Given the description of an element on the screen output the (x, y) to click on. 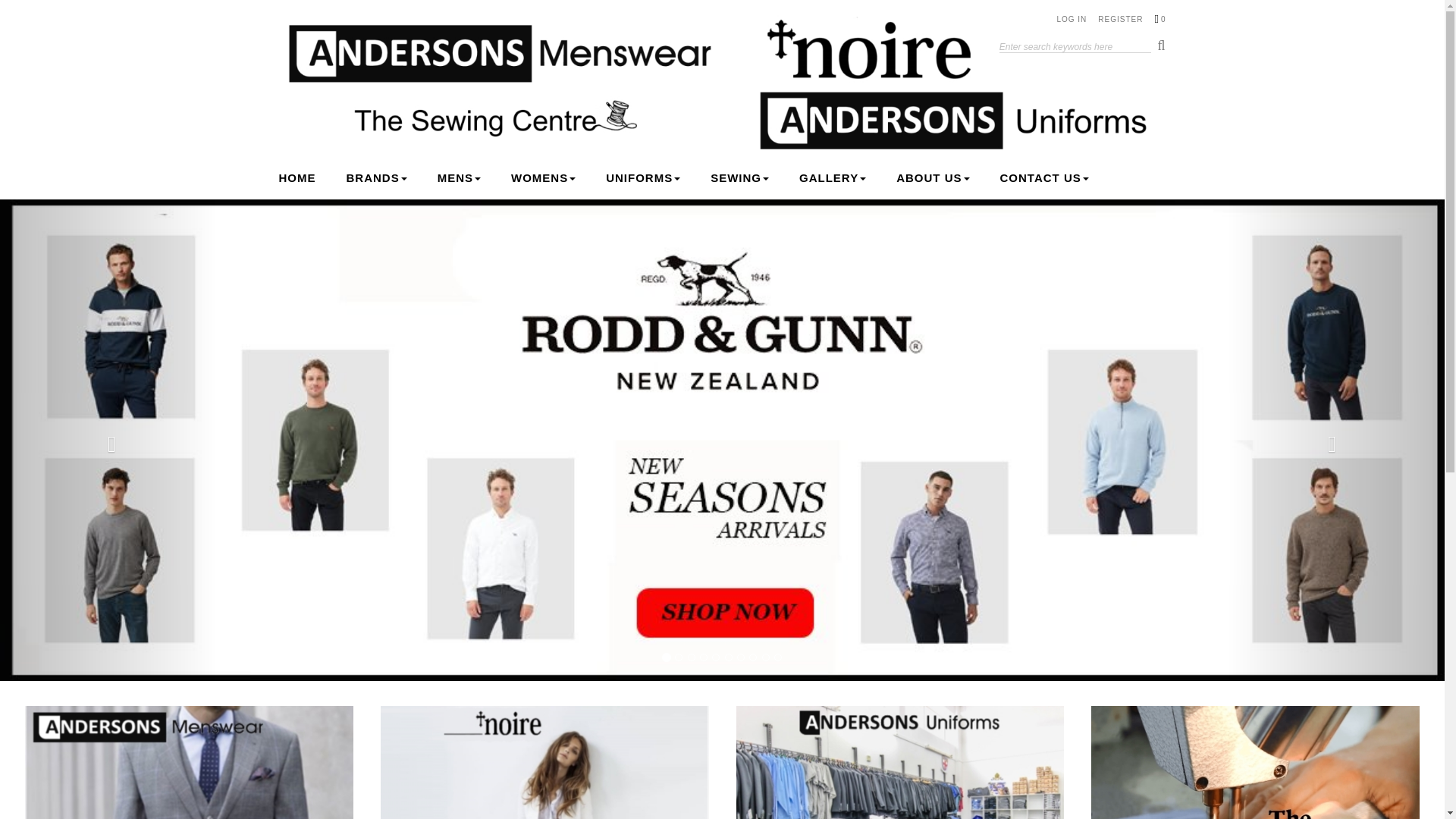
WOMENS (543, 177)
Uniforms (900, 761)
BRANDS (376, 177)
Noire Women's Wear (544, 761)
Enter search keywords here (1074, 47)
BRANDS (376, 177)
WOMENS (543, 177)
Andersons (722, 85)
CONTACT US (1042, 177)
ABOUT US (932, 177)
